Given the description of an element on the screen output the (x, y) to click on. 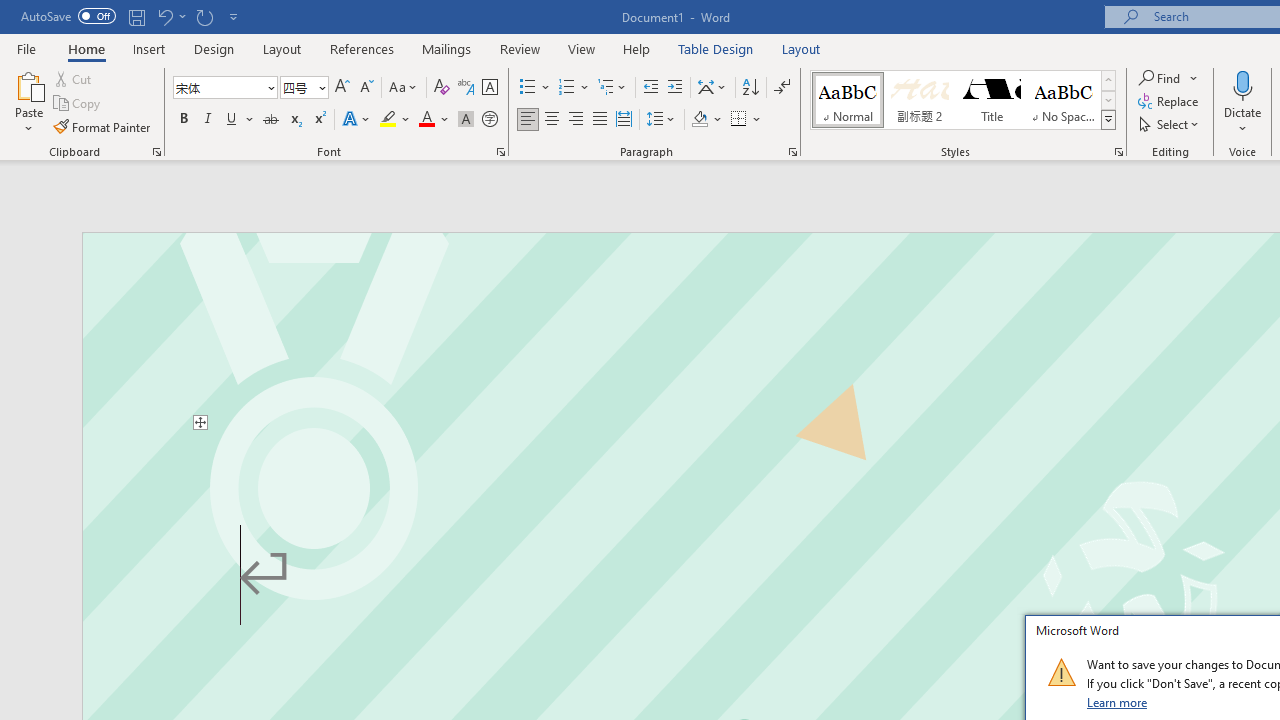
AutomationID: QuickStylesGallery (963, 99)
Repeat Text Fill Effect (204, 15)
Undo Text Fill Effect (170, 15)
Undo Text Fill Effect (164, 15)
